Given the description of an element on the screen output the (x, y) to click on. 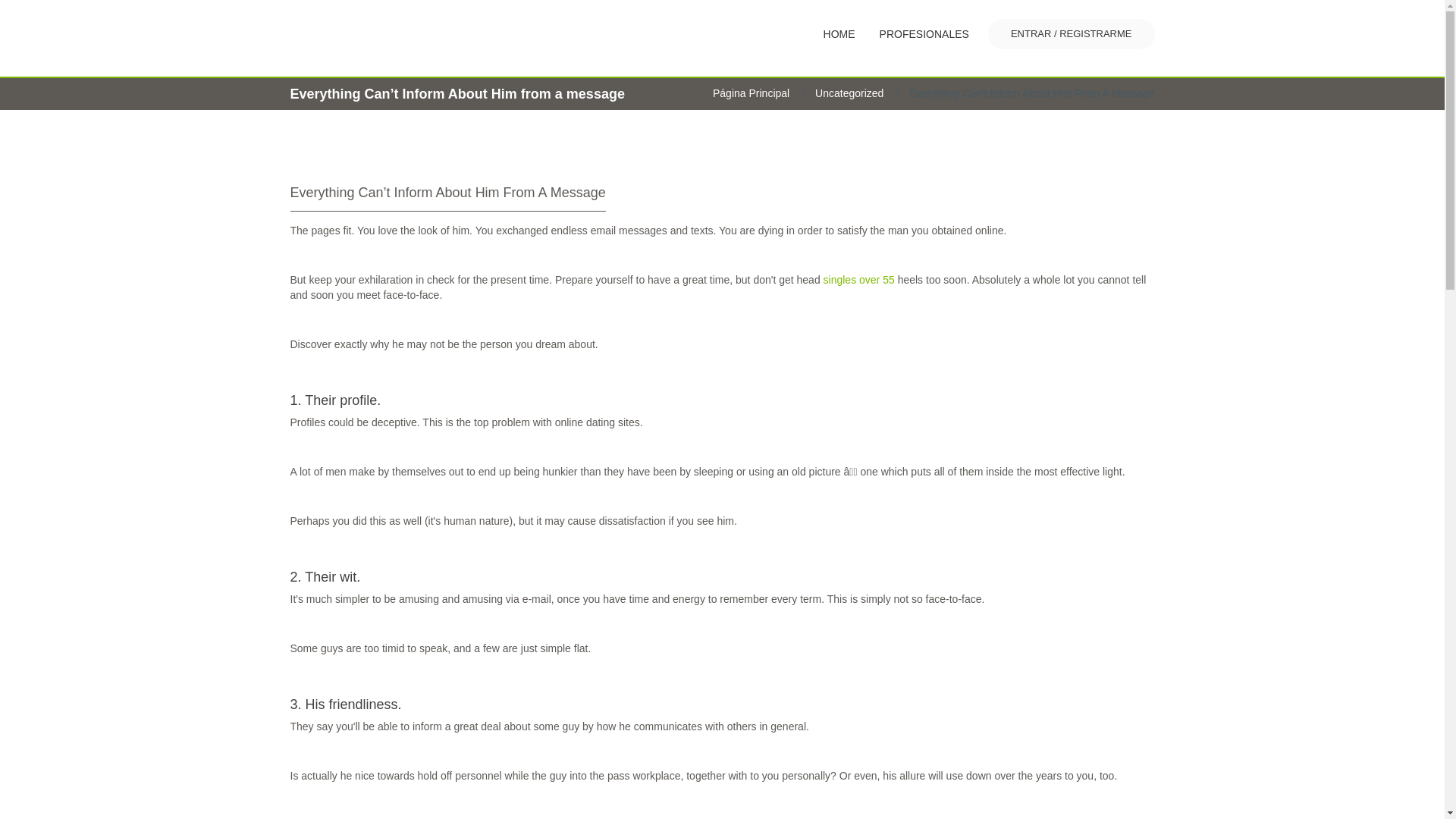
PROFESIONALES (924, 33)
HOME (840, 33)
Uncategorized (849, 92)
singles over 55 (859, 279)
